Given the description of an element on the screen output the (x, y) to click on. 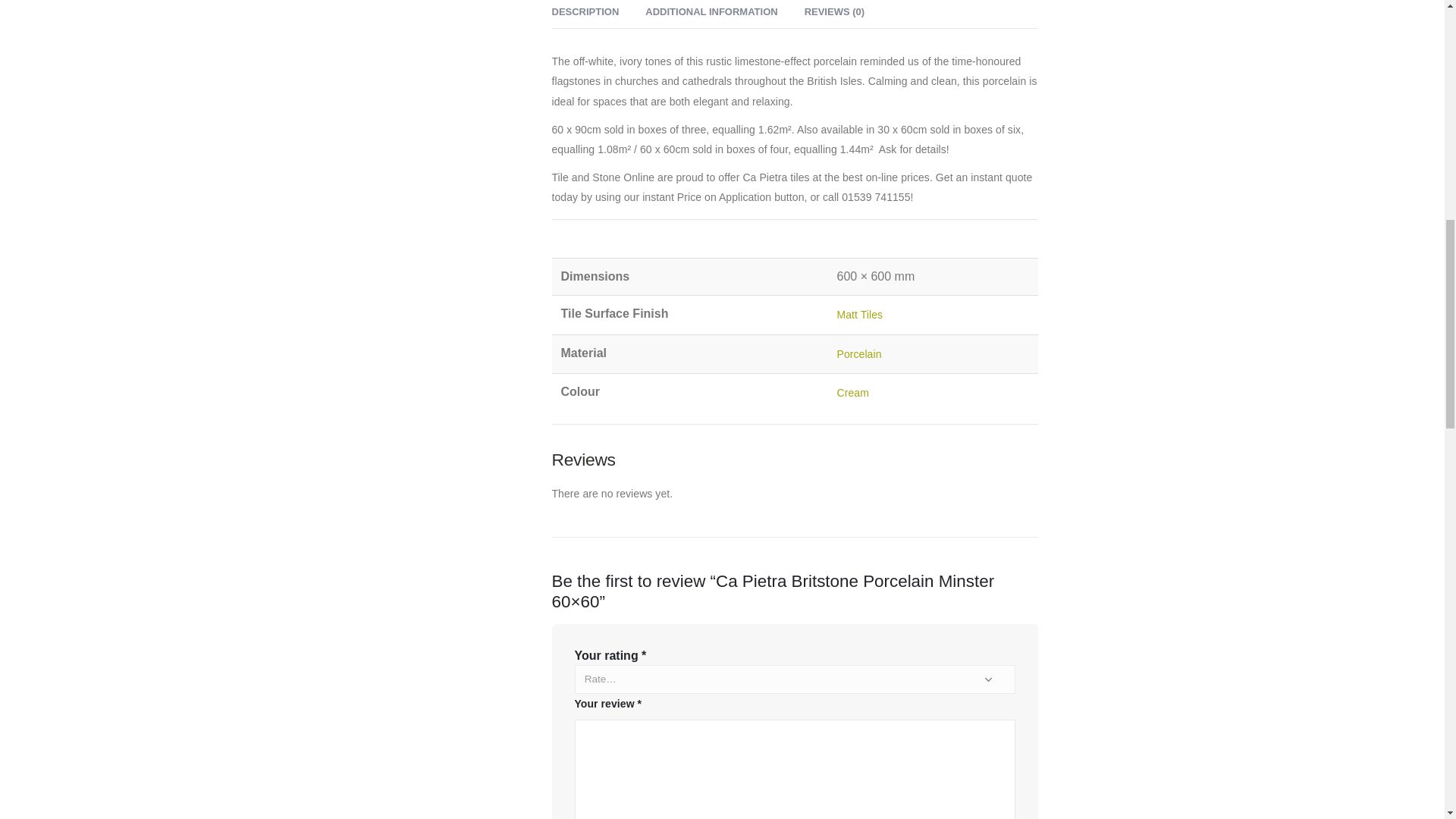
Cream (853, 392)
Porcelain (859, 354)
Matt Tiles (860, 314)
